Given the description of an element on the screen output the (x, y) to click on. 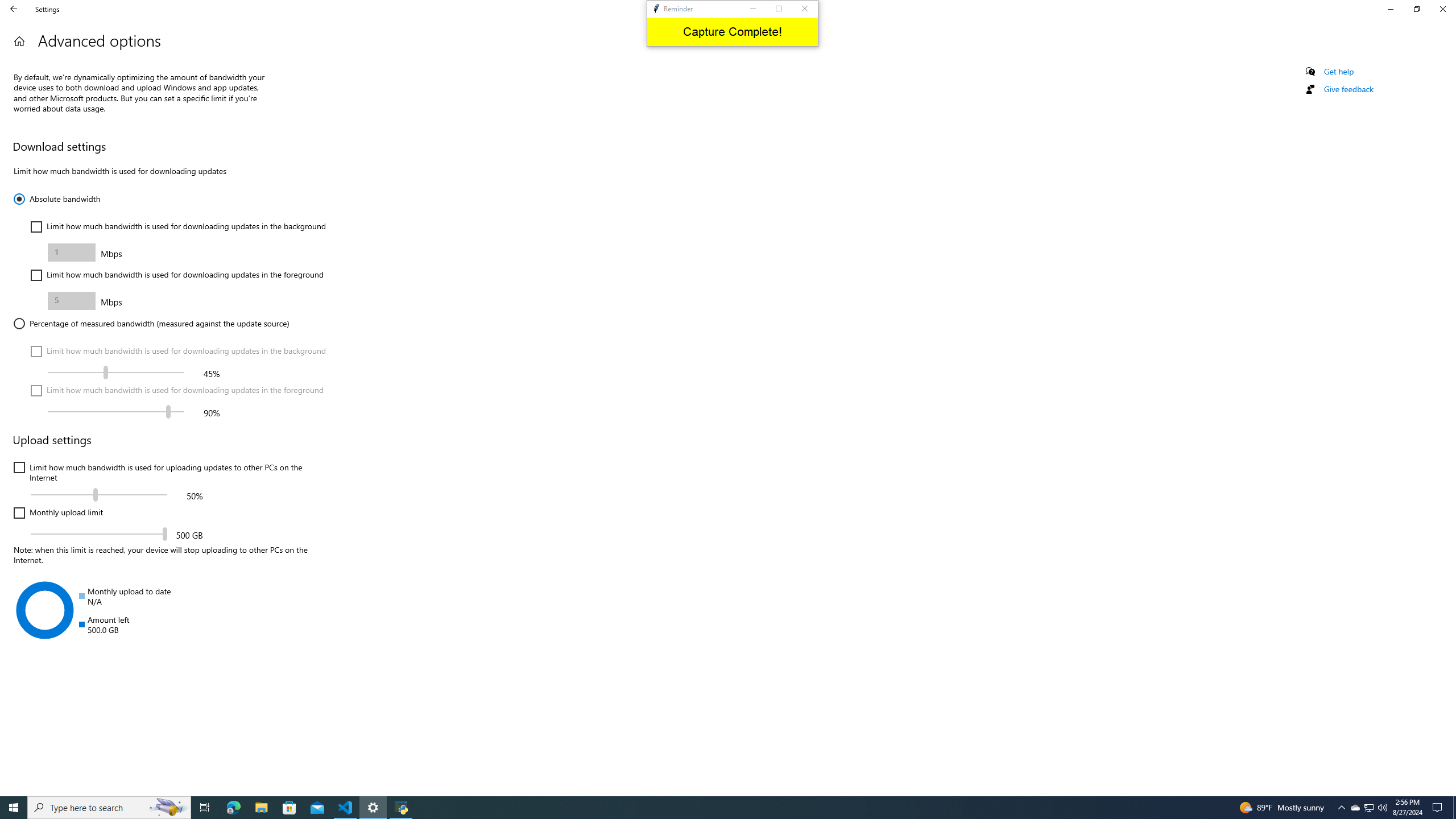
Minimize Settings (1390, 9)
Settings - 1 running window (373, 807)
Absolute bandwidth (56, 199)
Running applications (1368, 807)
Monthly upload limit (717, 807)
Home (98, 533)
Monthly upload limit (19, 40)
Absolute background bandwidth (58, 512)
Notification Chevron (72, 252)
User Promoted Notification Area (1341, 807)
